Given the description of an element on the screen output the (x, y) to click on. 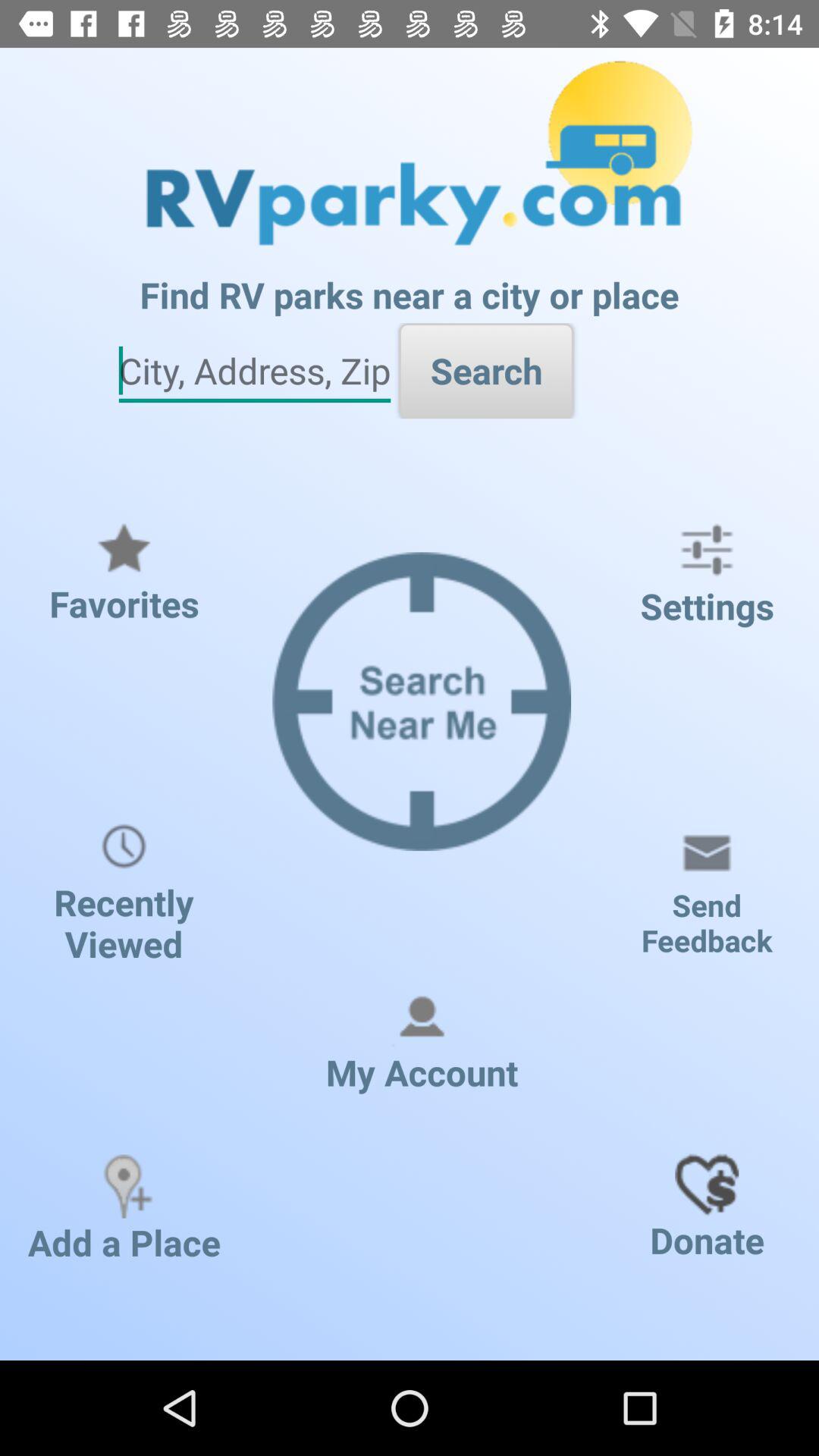
input city address and zip code (254, 371)
